Given the description of an element on the screen output the (x, y) to click on. 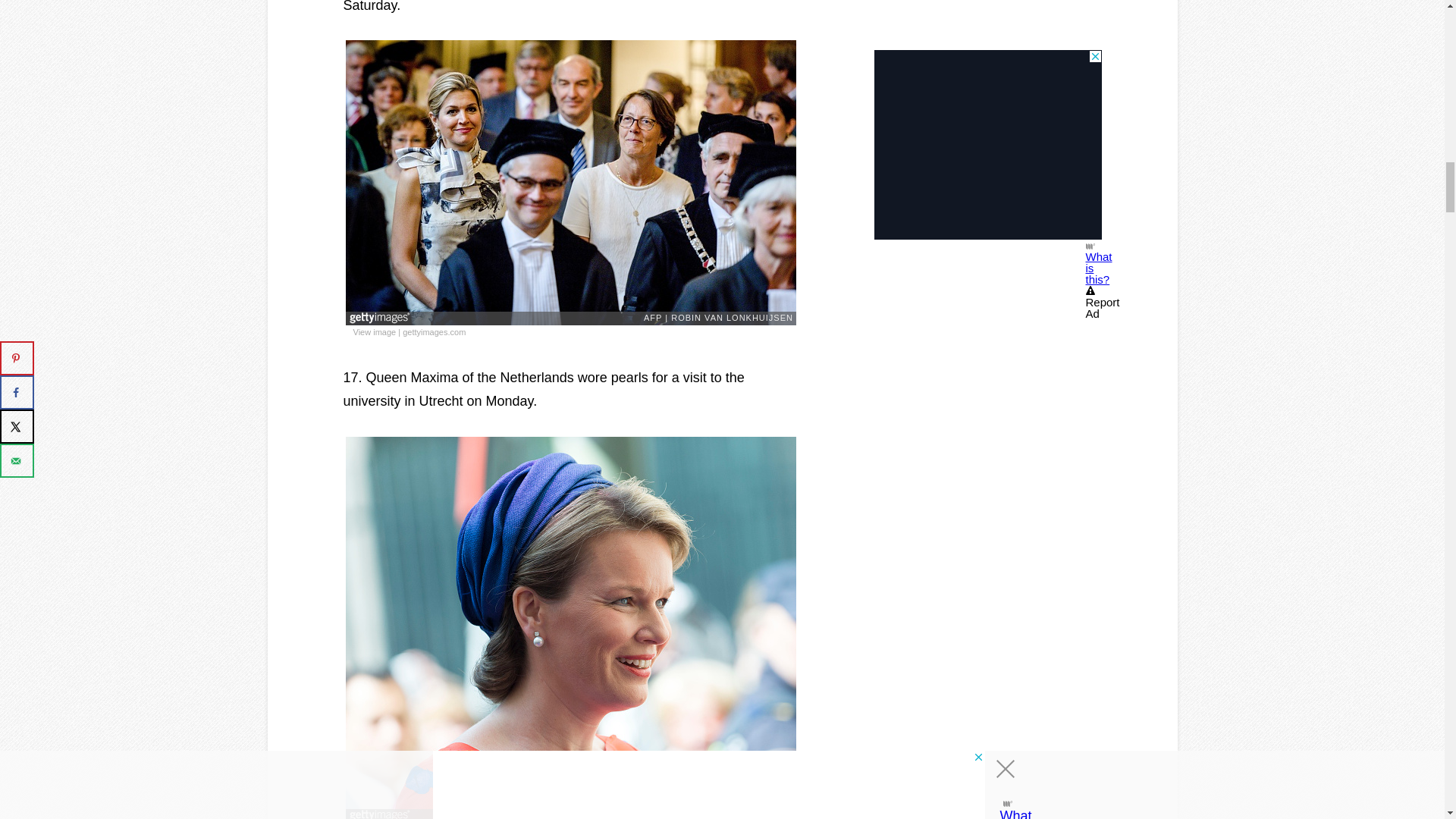
View image (374, 332)
gettyimages.com (434, 332)
